Given the description of an element on the screen output the (x, y) to click on. 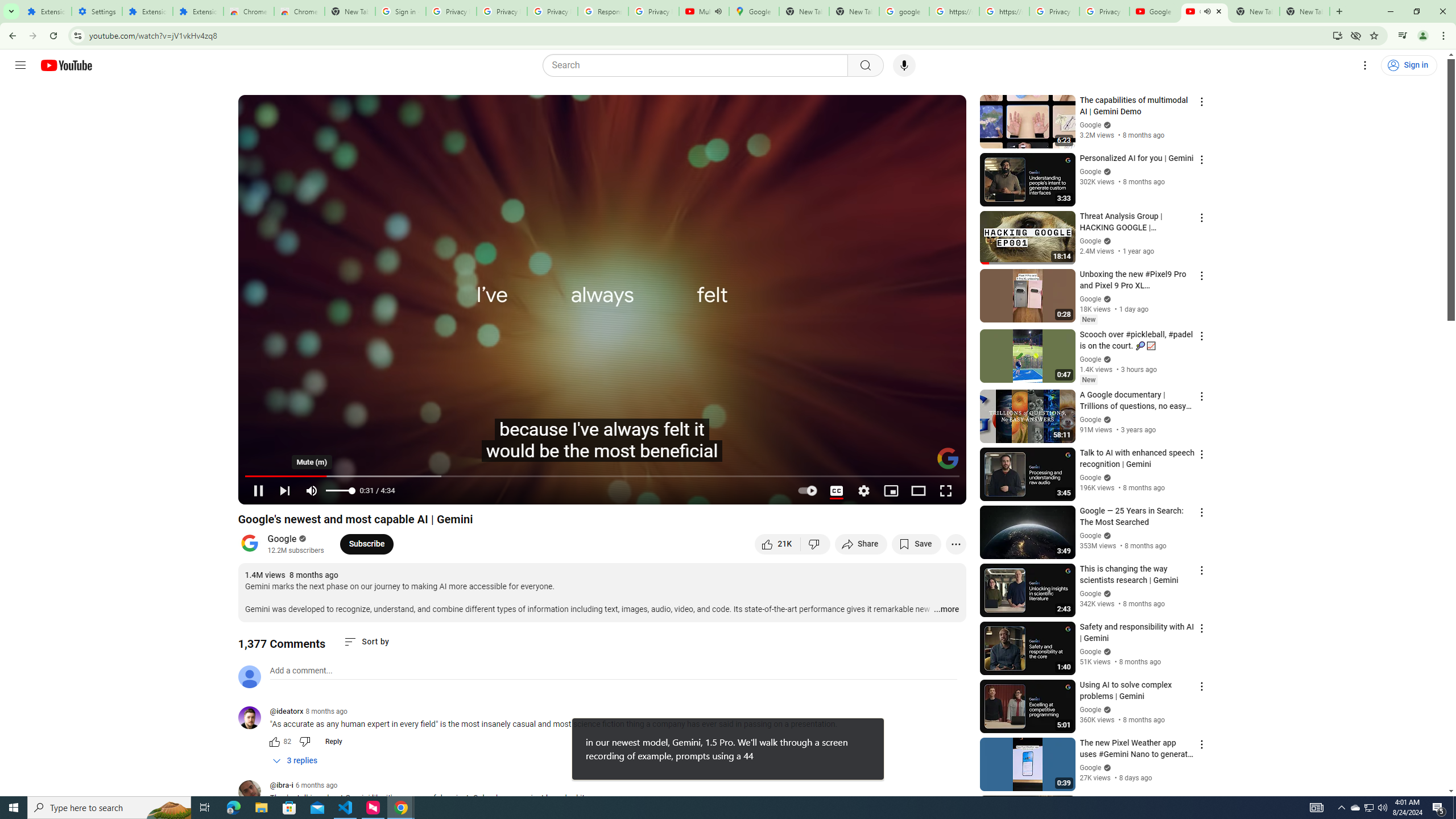
Chrome Web Store - Themes (299, 11)
Sign in - Google Accounts (399, 11)
...more (946, 609)
